Given the description of an element on the screen output the (x, y) to click on. 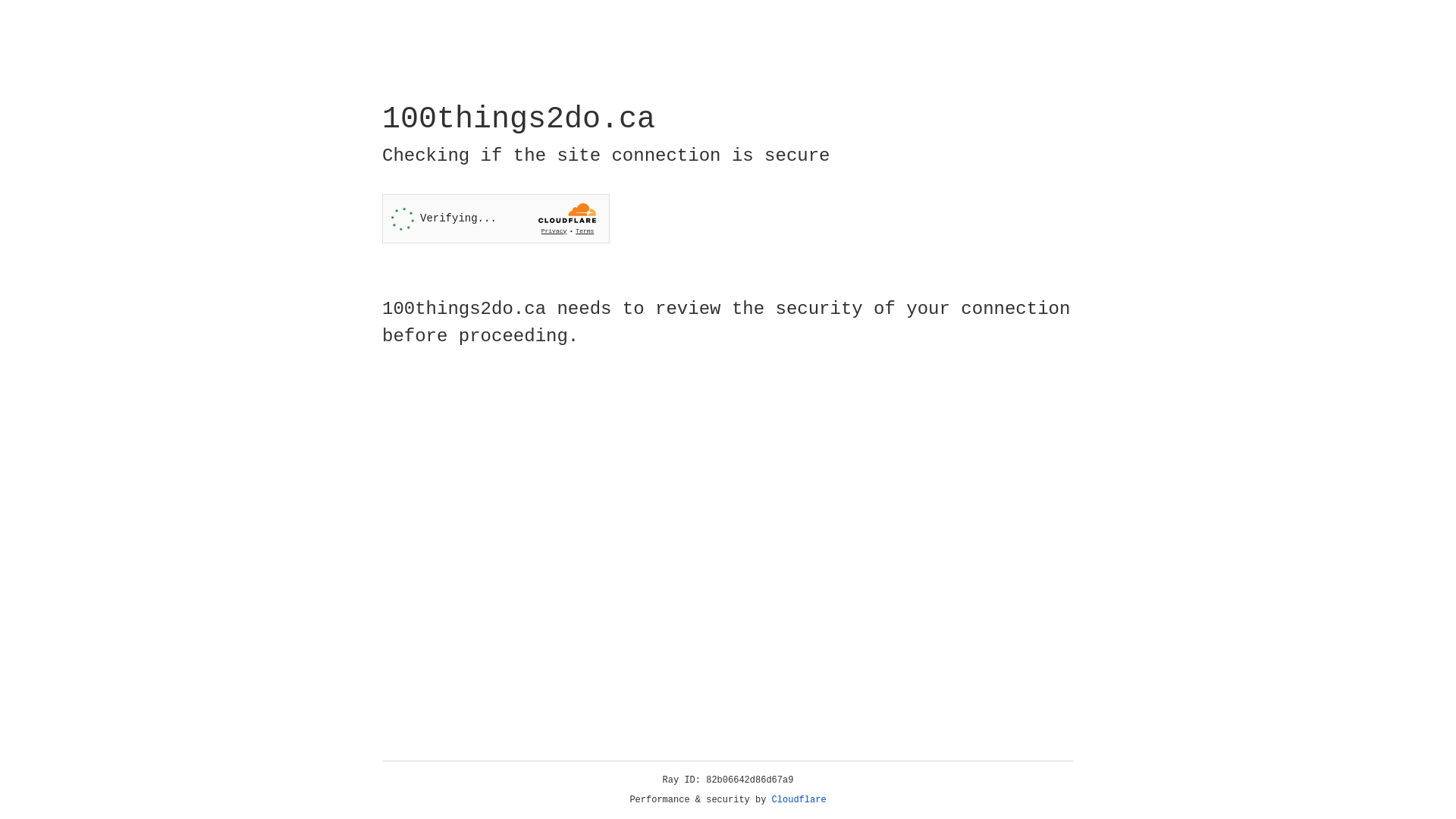
Widget containing a Cloudflare security challenge Element type: hover (495, 218)
Cloudflare Element type: text (798, 799)
